Given the description of an element on the screen output the (x, y) to click on. 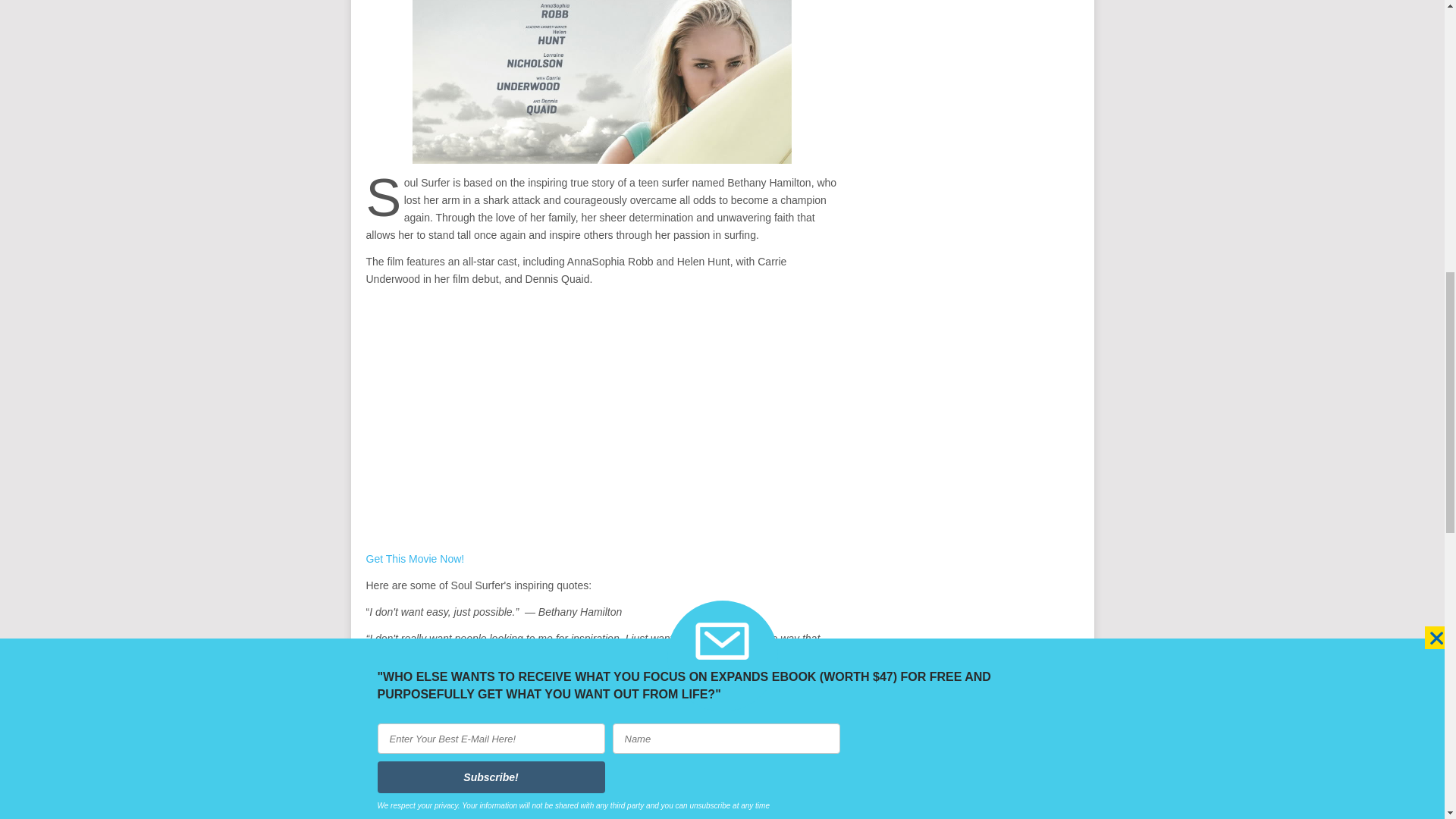
Soul Surfer Movie Quotes (602, 81)
Get This Movie Now! (414, 558)
